Given the description of an element on the screen output the (x, y) to click on. 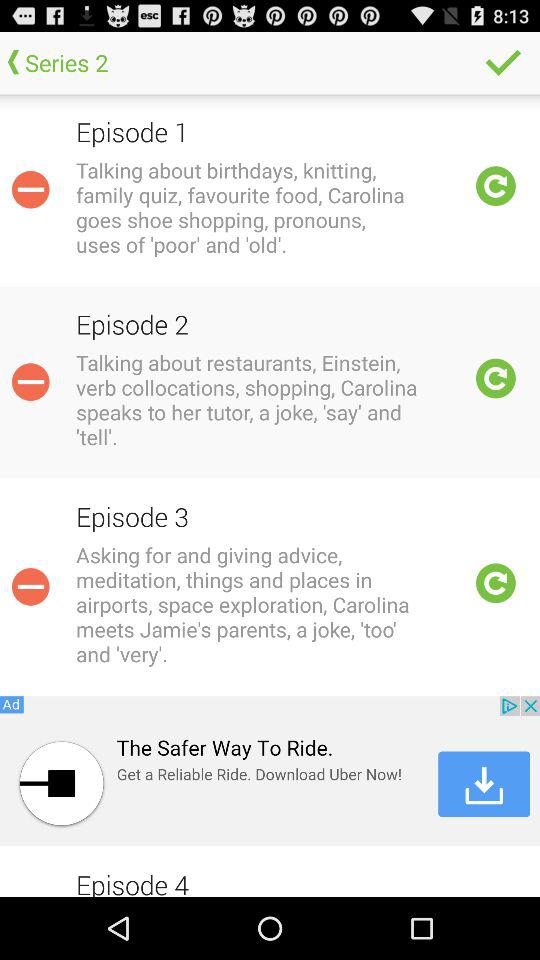
delete episode (30, 189)
